Given the description of an element on the screen output the (x, y) to click on. 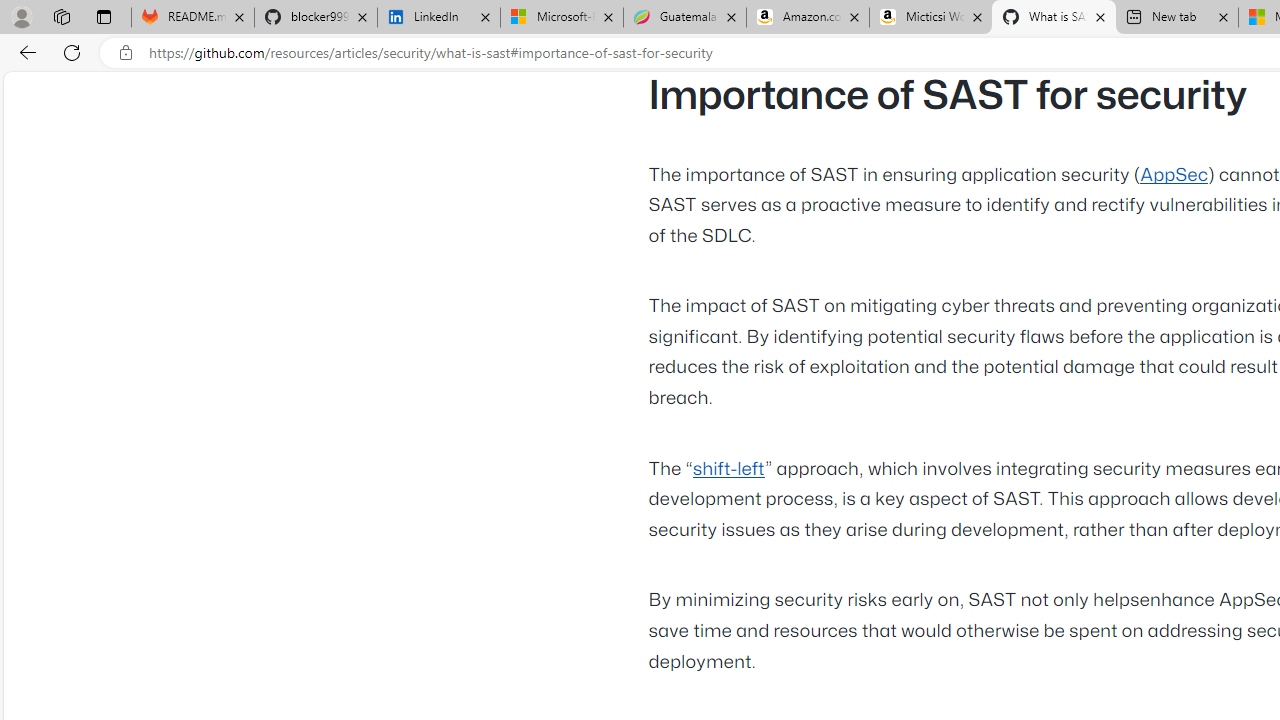
AppSec (1174, 175)
LinkedIn (438, 17)
